Given the description of an element on the screen output the (x, y) to click on. 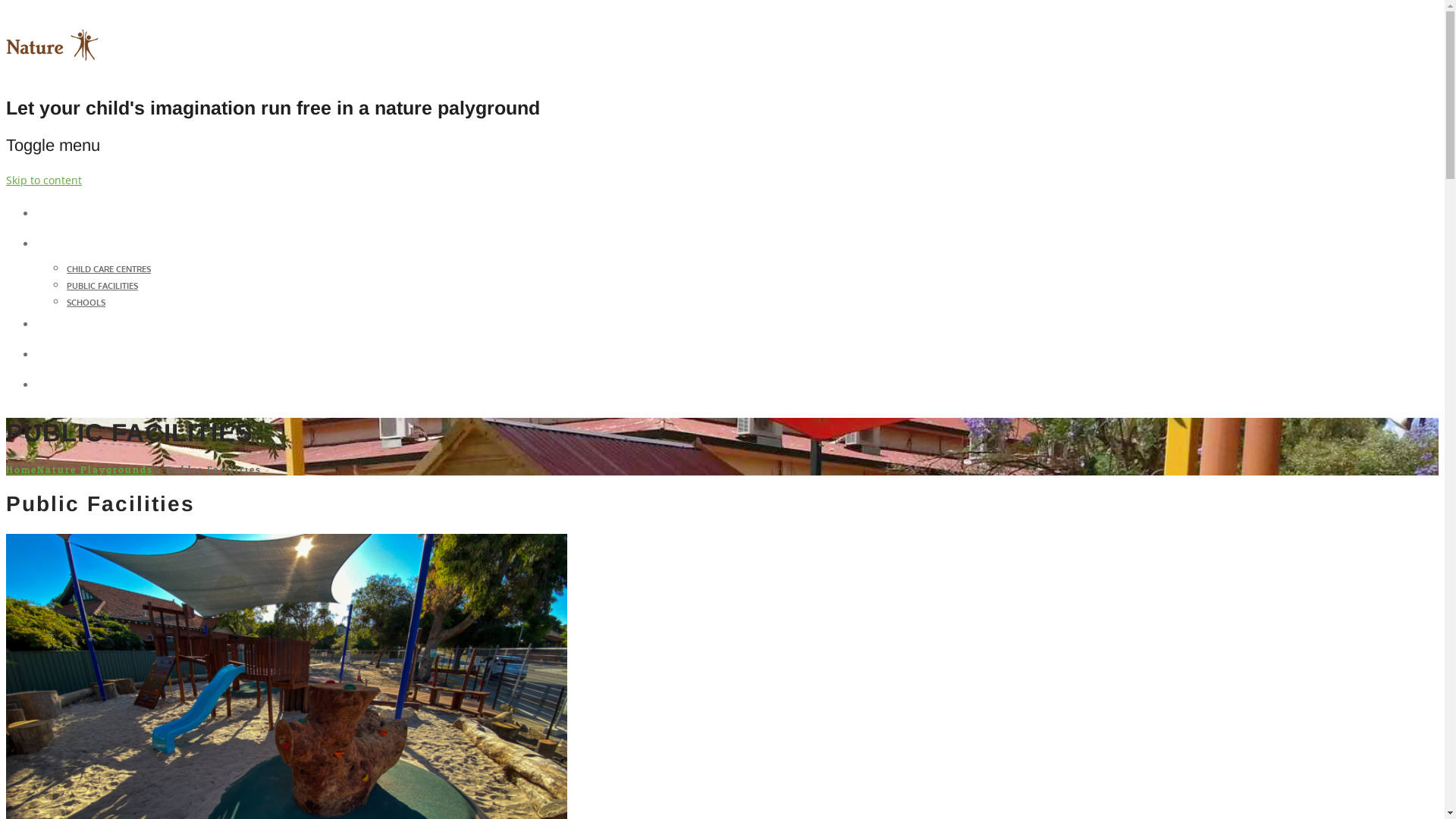
HOME Element type: text (52, 213)
CHILD CARE CENTRES Element type: text (108, 268)
CONTACT US Element type: text (71, 354)
PROJECTS Element type: text (64, 244)
PUBLIC FACILITIES Element type: text (102, 285)
HomeNature Playgrounds Element type: text (79, 470)
Nature Playgrounds Element type: hover (57, 71)
1300 629 885 Element type: text (71, 385)
ABOUT Element type: text (55, 324)
Skip to content Element type: text (43, 179)
SCHOOLS Element type: text (85, 302)
